Given the description of an element on the screen output the (x, y) to click on. 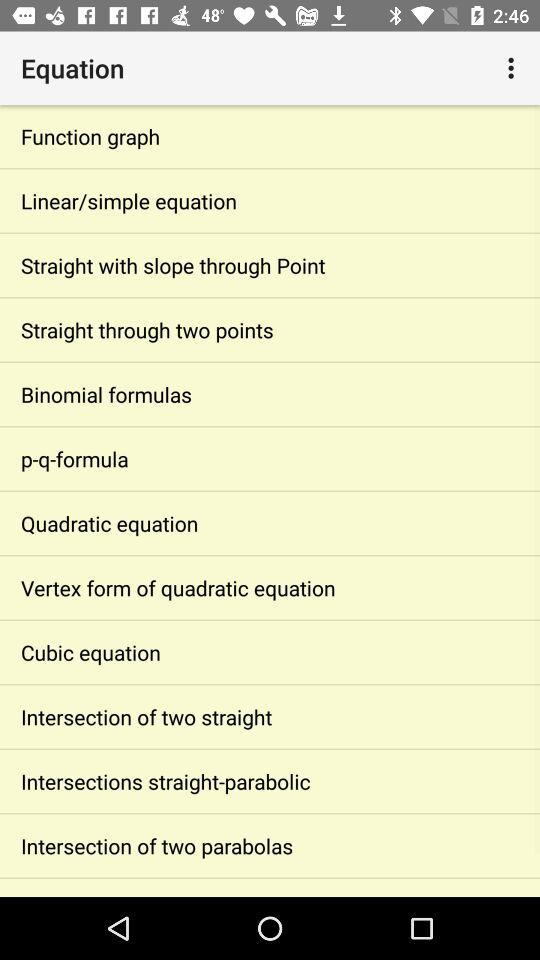
scroll until the intersections straight-parabolic (270, 781)
